Given the description of an element on the screen output the (x, y) to click on. 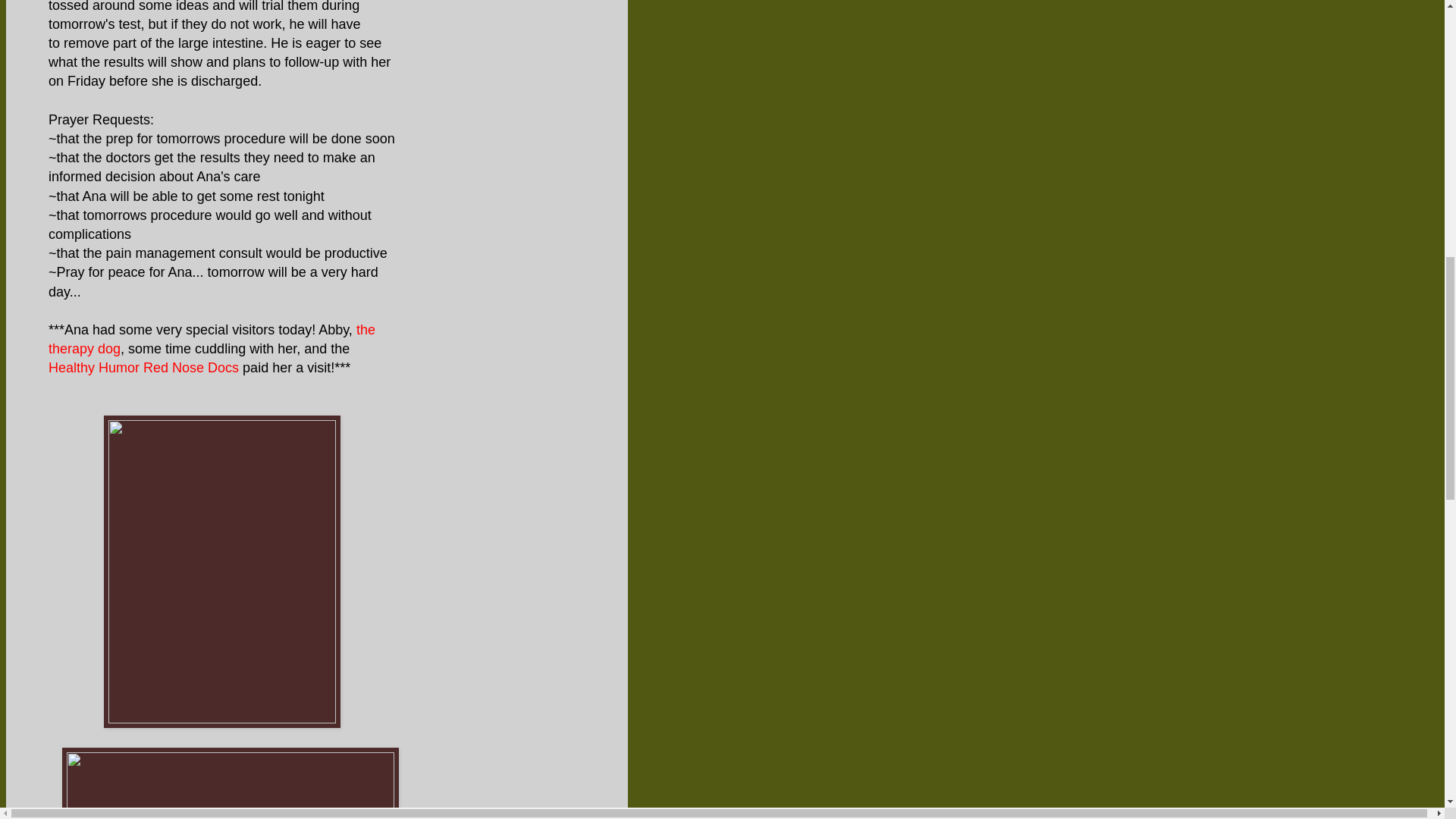
Healthy Humor Red Nose Docs (143, 367)
the therapy dog (211, 339)
